Given the description of an element on the screen output the (x, y) to click on. 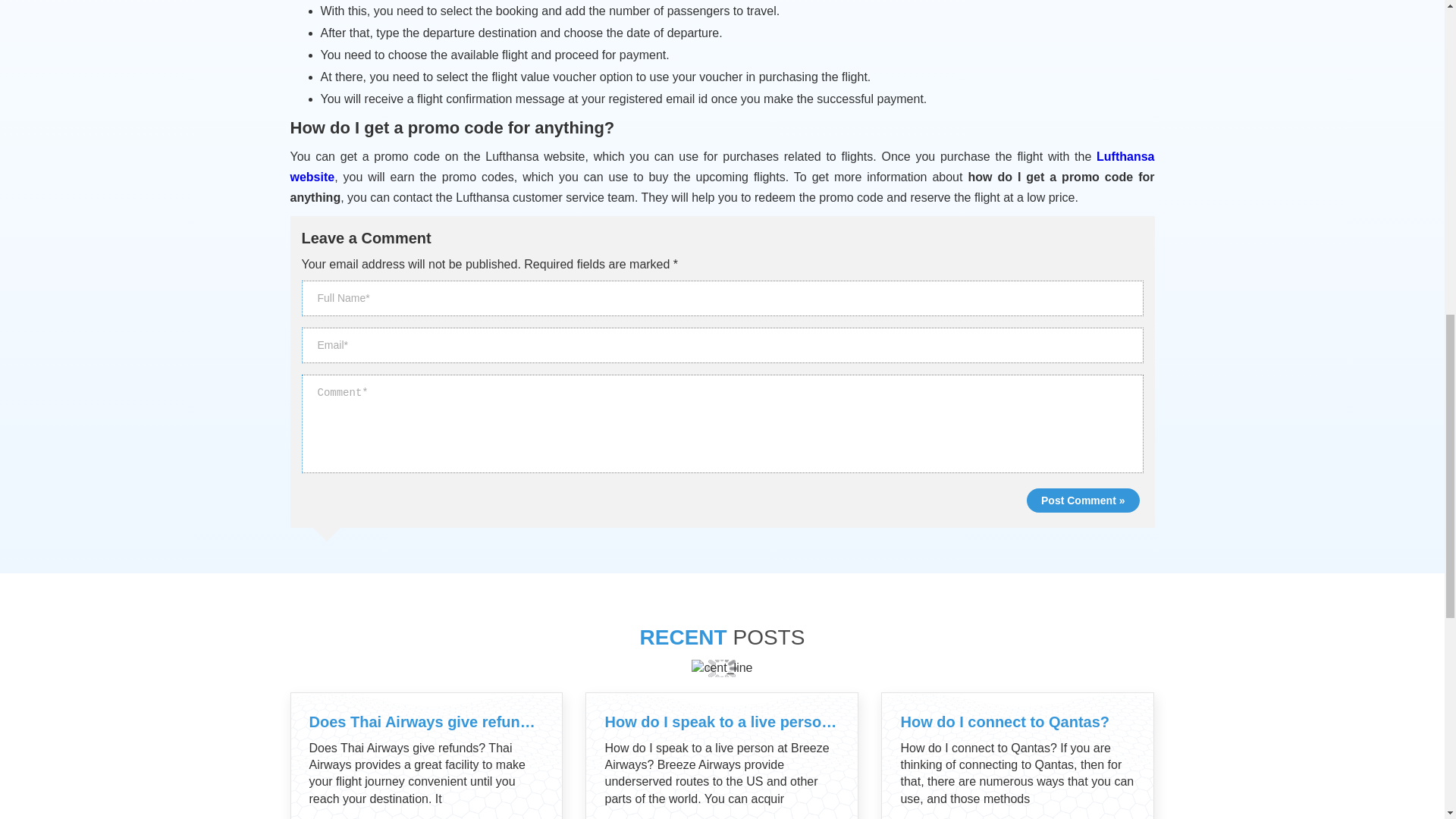
Lufthansa website (721, 166)
